Given the description of an element on the screen output the (x, y) to click on. 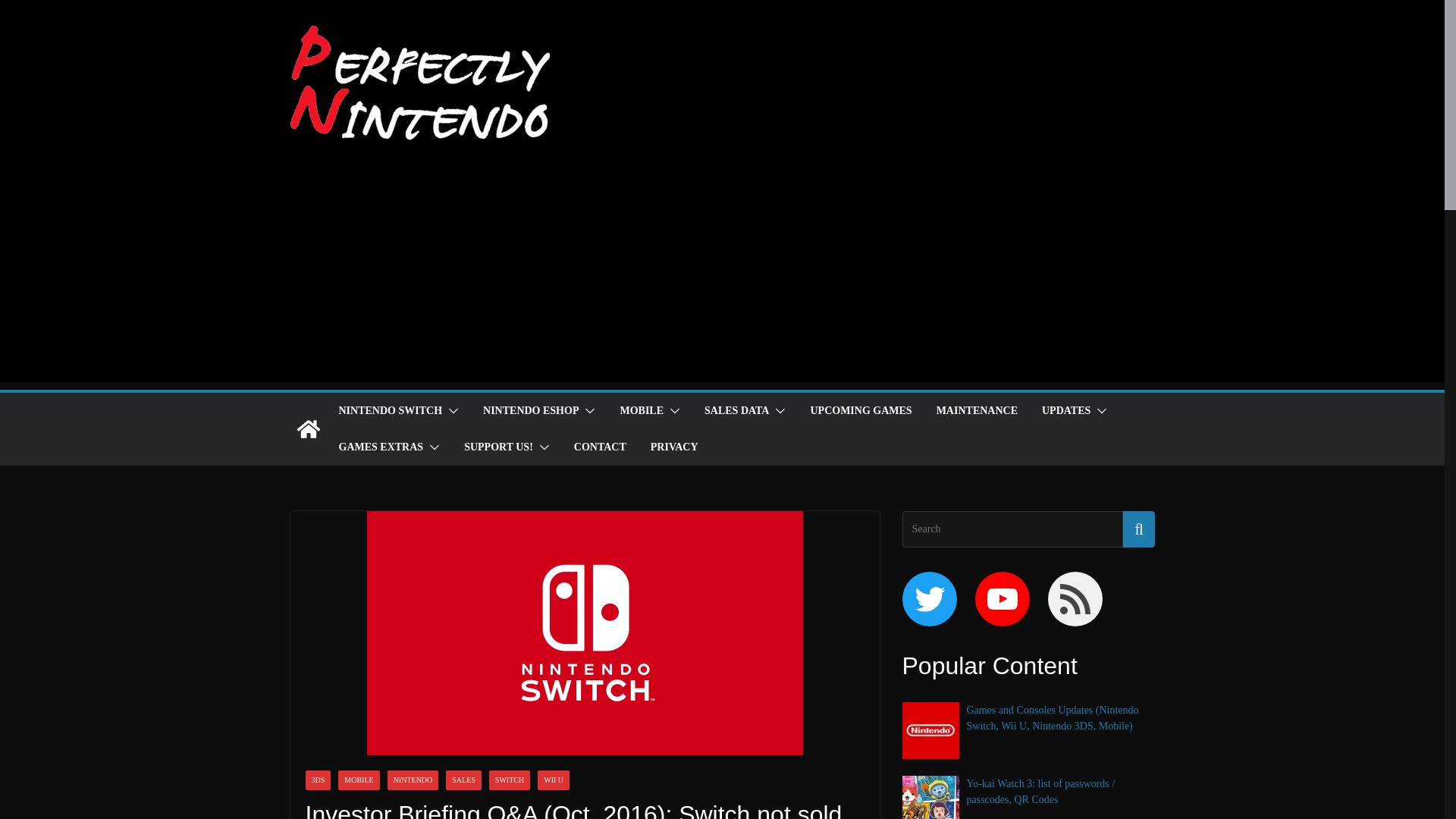
NINTENDO ESHOP (530, 410)
GAMES EXTRAS (380, 446)
Perfectly Nintendo (307, 429)
UPDATES (1066, 410)
UPCOMING GAMES (860, 410)
MOBILE (641, 410)
MAINTENANCE (976, 410)
SALES DATA (736, 410)
NINTENDO SWITCH (389, 410)
